Given the description of an element on the screen output the (x, y) to click on. 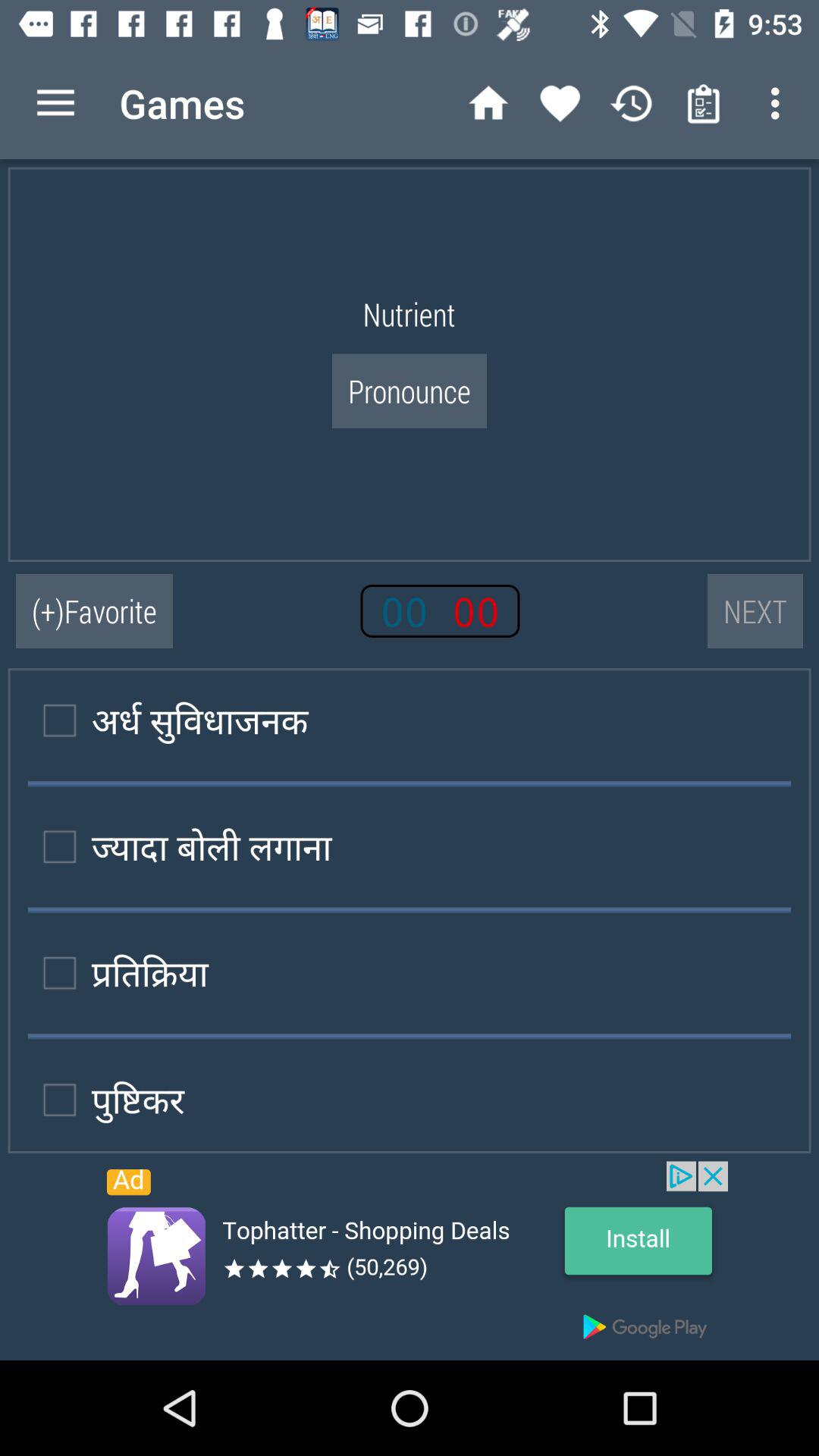
advertising (409, 1260)
